Given the description of an element on the screen output the (x, y) to click on. 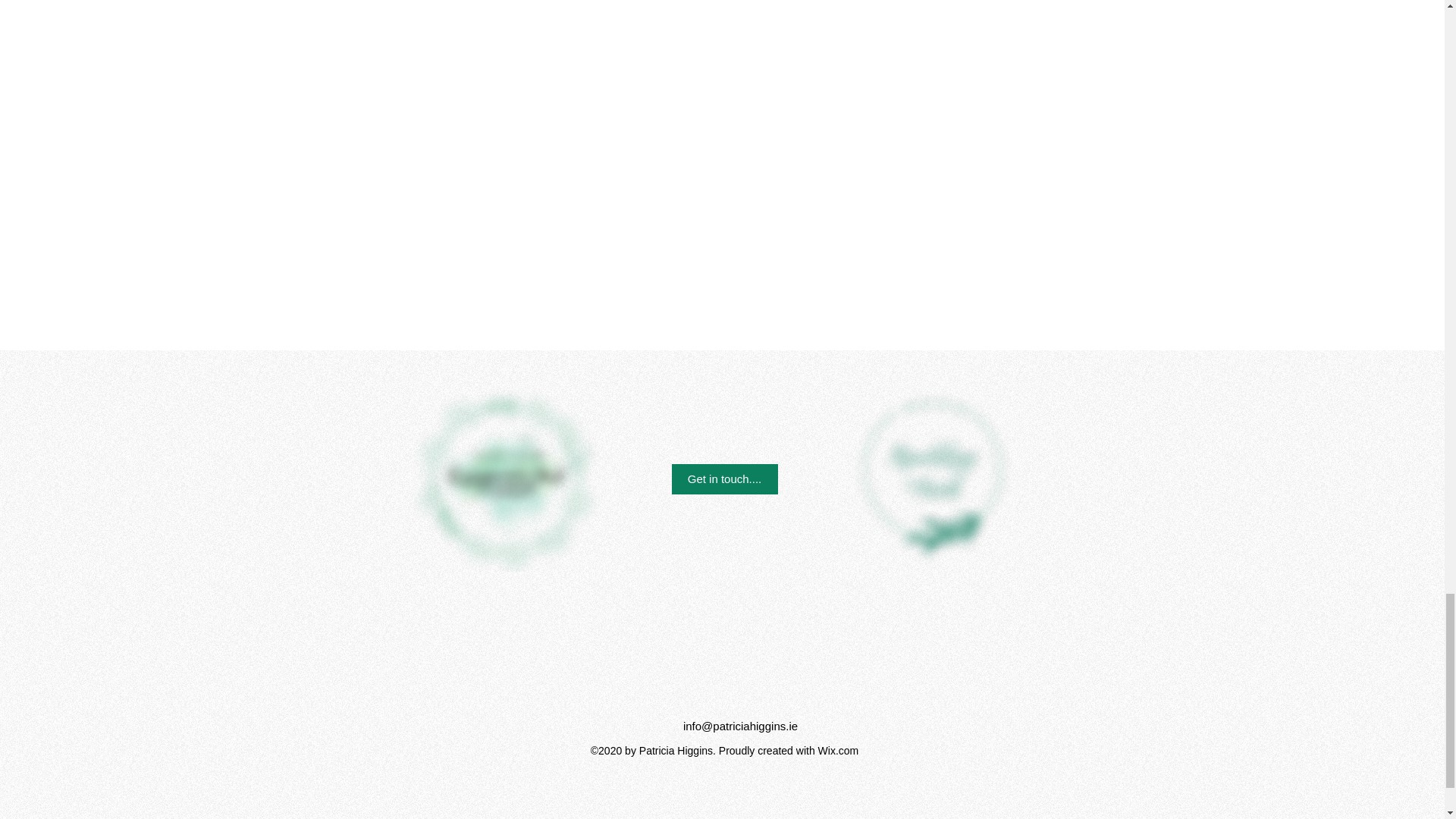
Transparent Logo.png (932, 468)
